Given the description of an element on the screen output the (x, y) to click on. 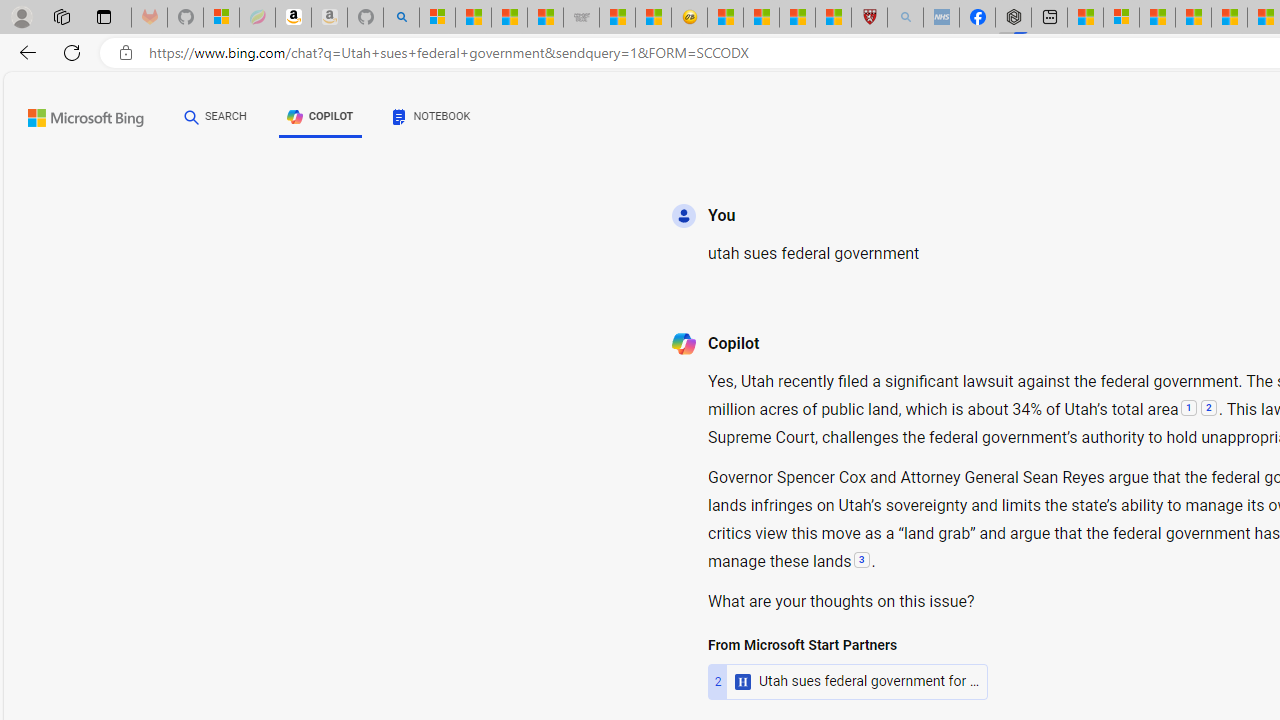
1:  (1188, 409)
SEARCH (215, 117)
SEARCH (215, 116)
NOTEBOOK (431, 116)
Back to Bing search (73, 113)
